Given the description of an element on the screen output the (x, y) to click on. 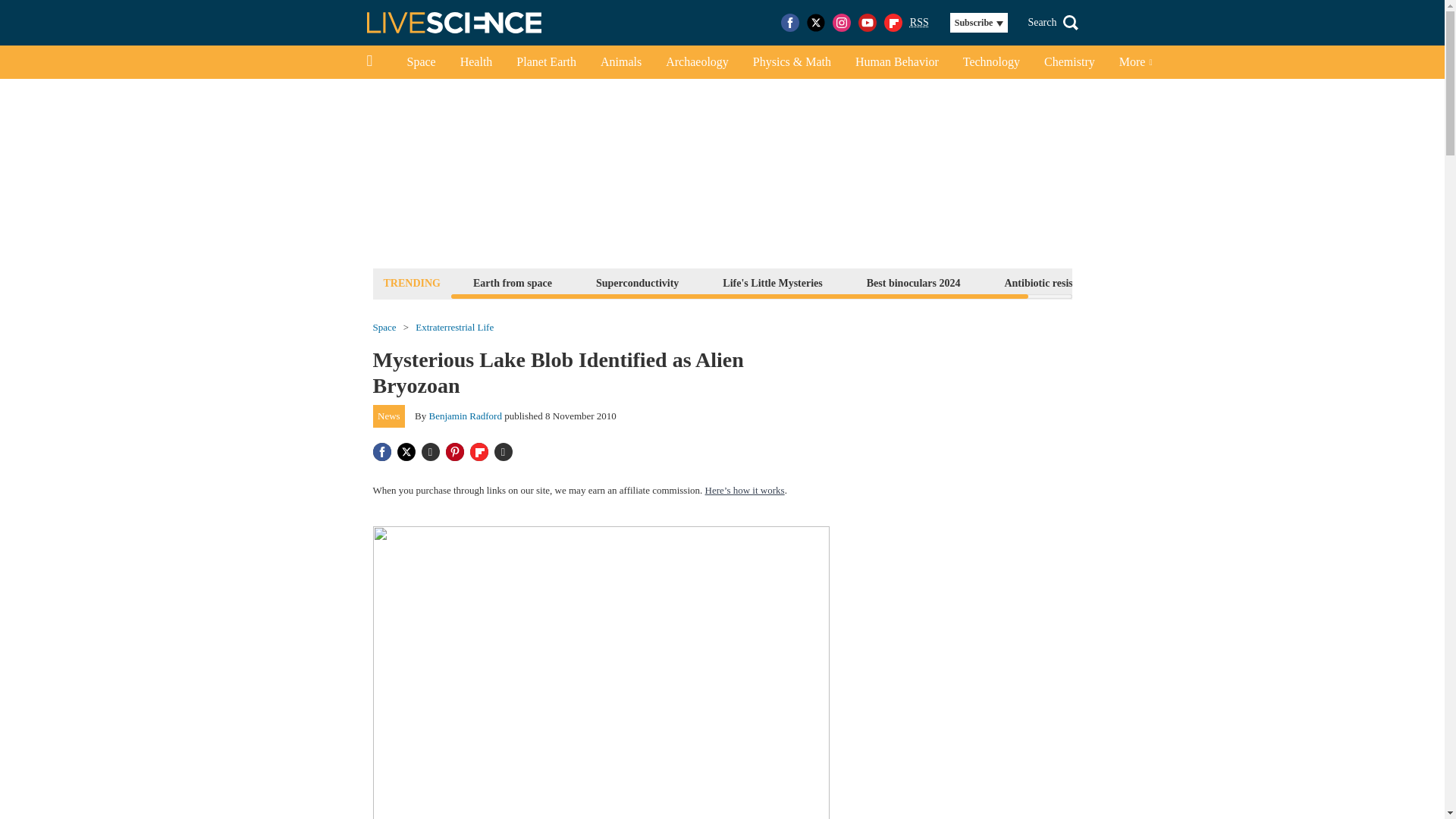
Benjamin Radford (465, 415)
Health (476, 61)
Antibiotic resistance (1050, 282)
Archaeology (697, 61)
Life's Little Mysteries (772, 282)
Space (420, 61)
Planet Earth (545, 61)
Superconductivity (637, 282)
Best binoculars 2024 (913, 282)
Extraterrestrial Life (453, 327)
